Given the description of an element on the screen output the (x, y) to click on. 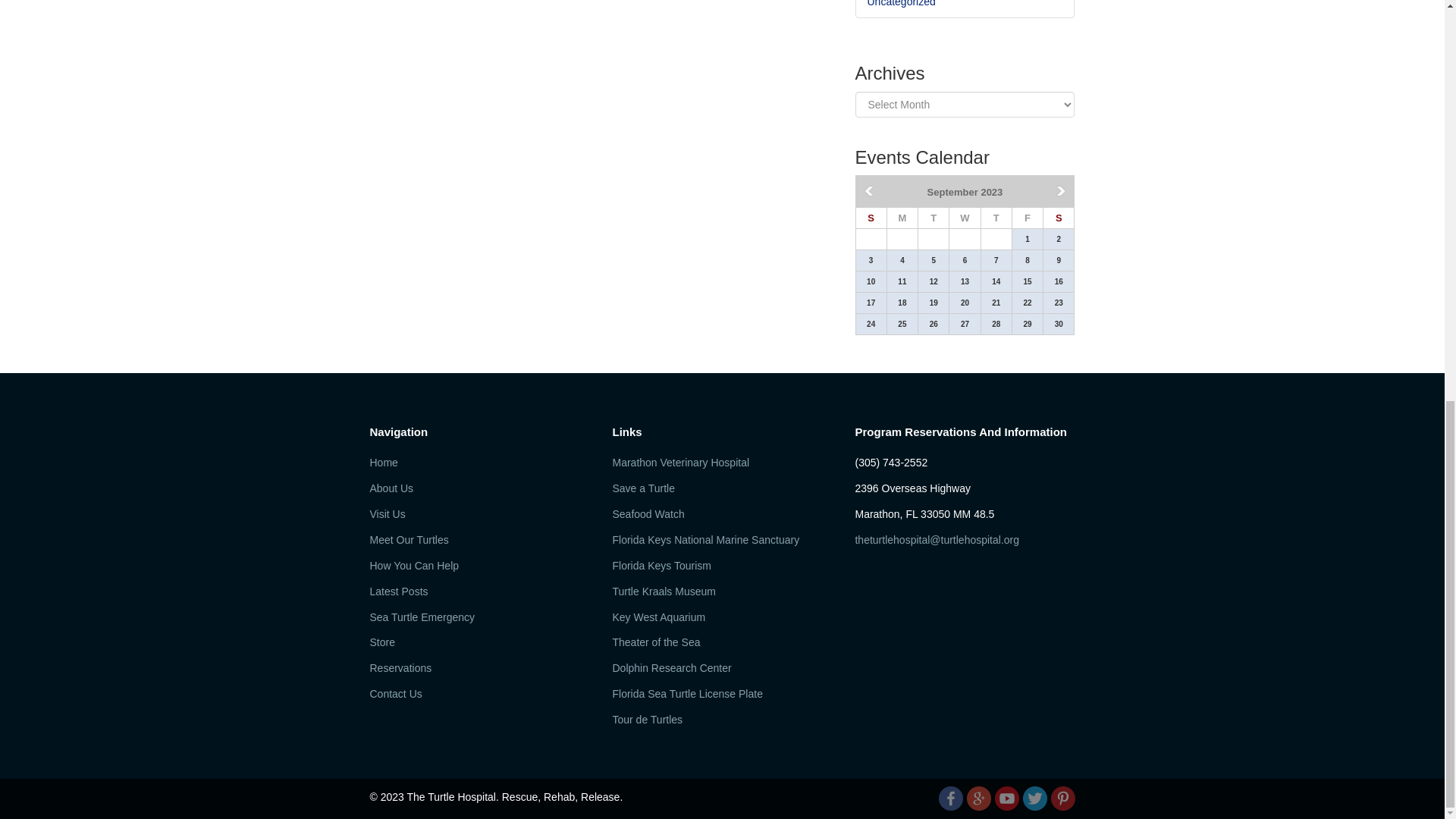
View all posts filed under Uncategorized (901, 3)
